Given the description of an element on the screen output the (x, y) to click on. 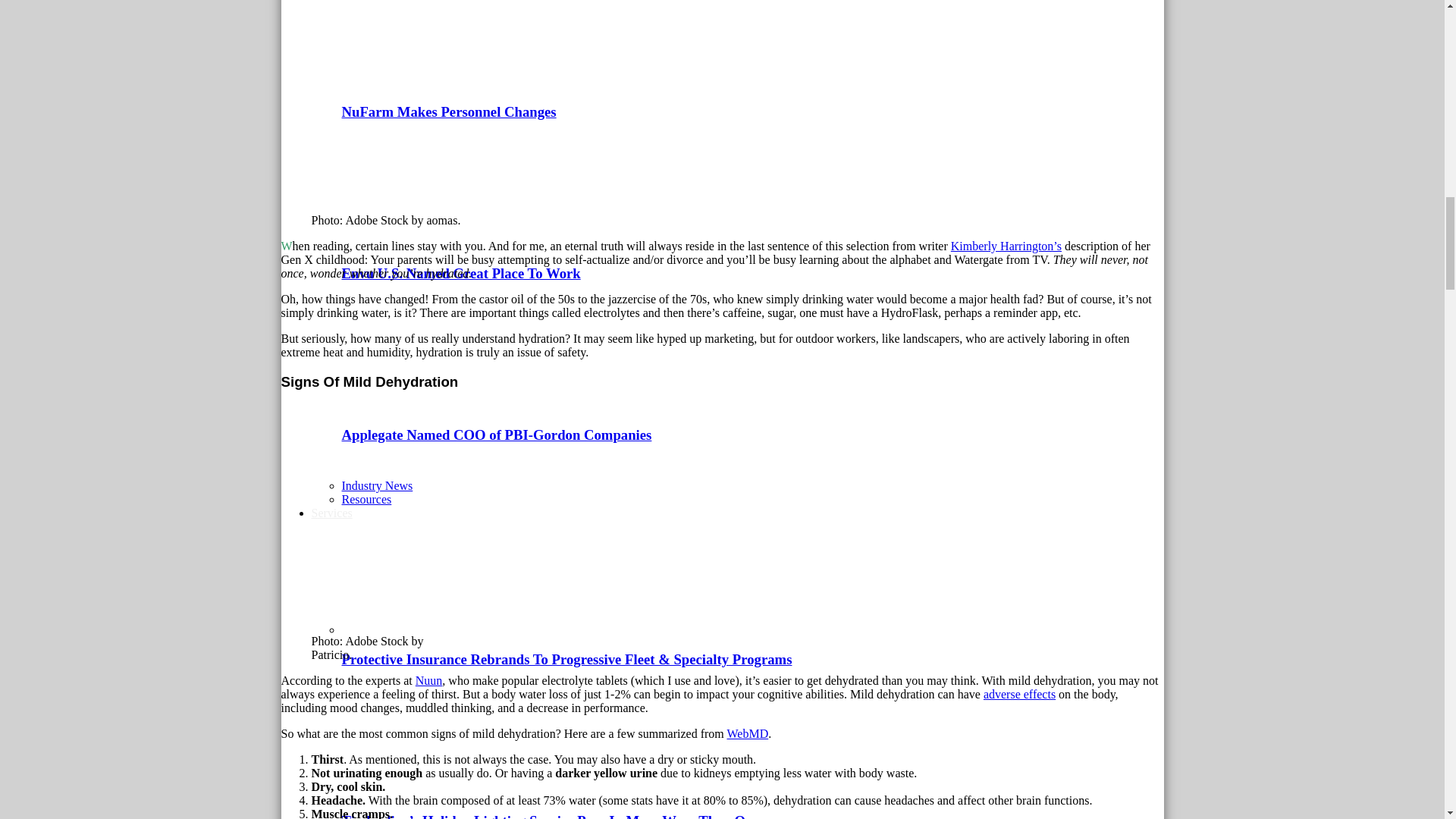
NuFarm Makes Personnel Changes (423, 82)
